Given the description of an element on the screen output the (x, y) to click on. 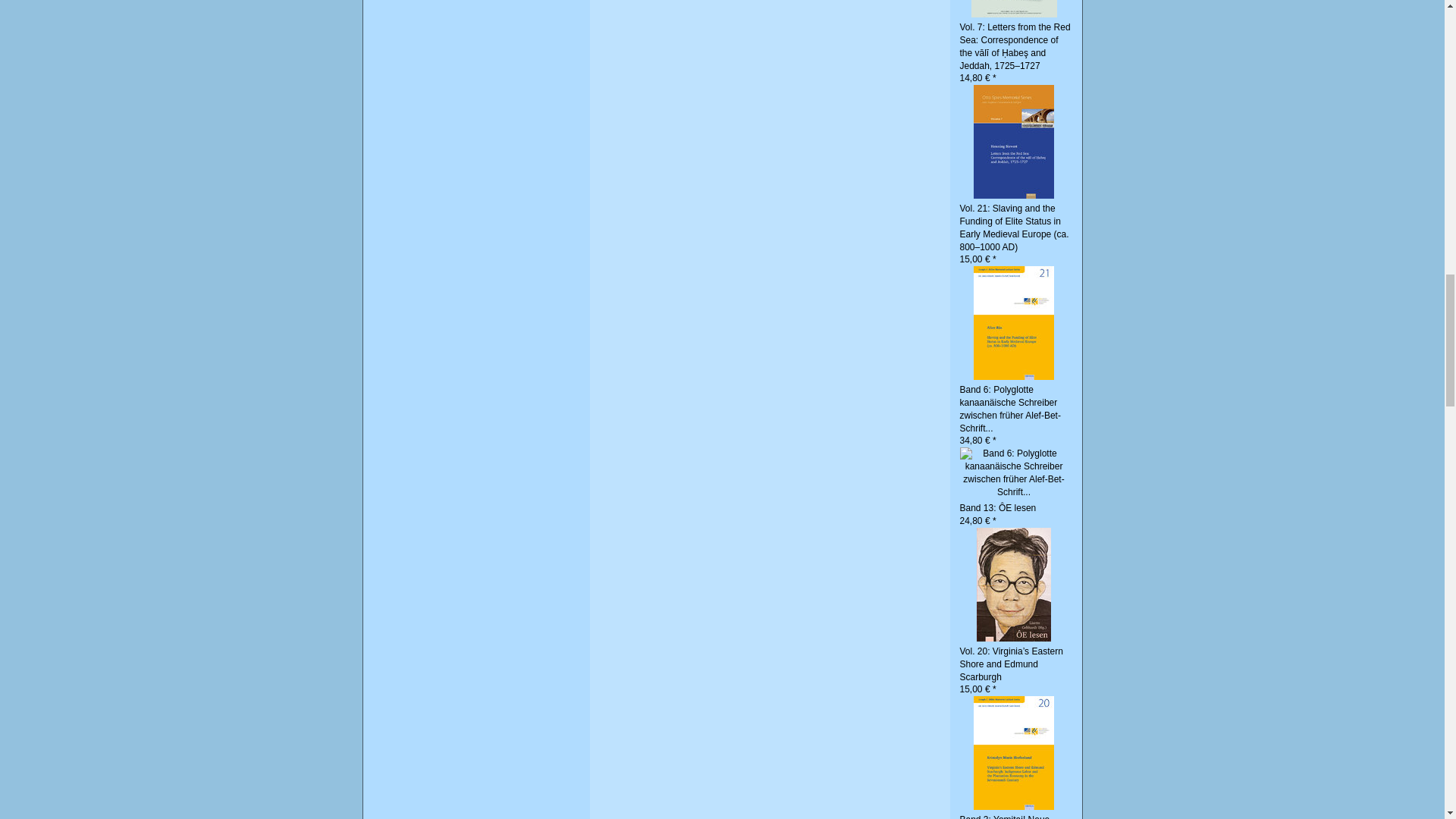
Zum Produkt (1014, 321)
Zum Produkt (1014, 140)
Zum Produkt (1014, 751)
Zum Produkt (1013, 471)
Zum Produkt (1013, 583)
